Given the description of an element on the screen output the (x, y) to click on. 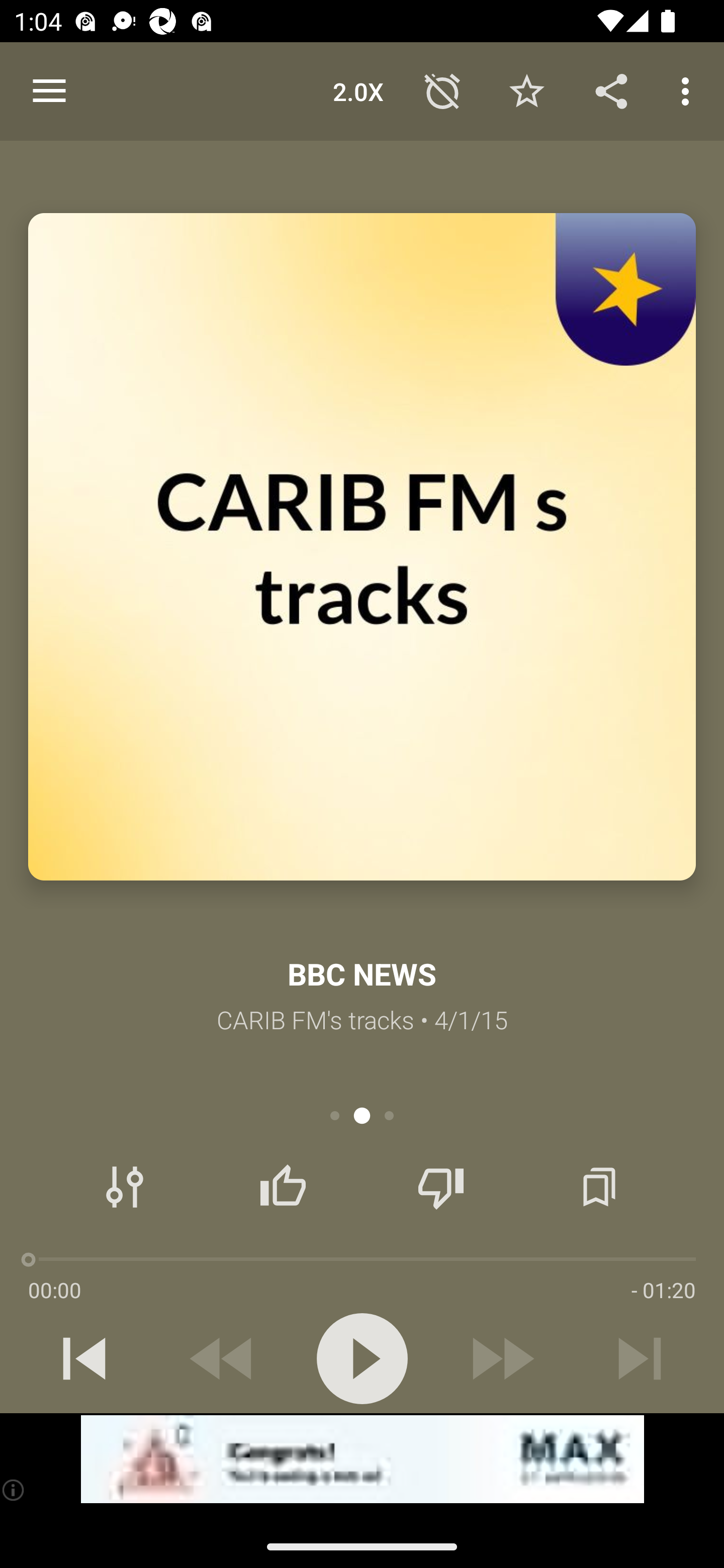
Open navigation sidebar (49, 91)
2.0X (357, 90)
Sleep Timer (442, 90)
Favorite (526, 90)
Share (611, 90)
More options (688, 90)
Episode description (361, 547)
Audio effects (124, 1186)
Thumbs up (283, 1186)
Thumbs down (440, 1186)
Chapters / Bookmarks (598, 1186)
- 01:20 (663, 1289)
Previous track (84, 1358)
Skip 15s backward (222, 1358)
Play / Pause (362, 1358)
Skip 30s forward (500, 1358)
Next track (639, 1358)
app-monetization (362, 1459)
(i) (14, 1489)
